Given the description of an element on the screen output the (x, y) to click on. 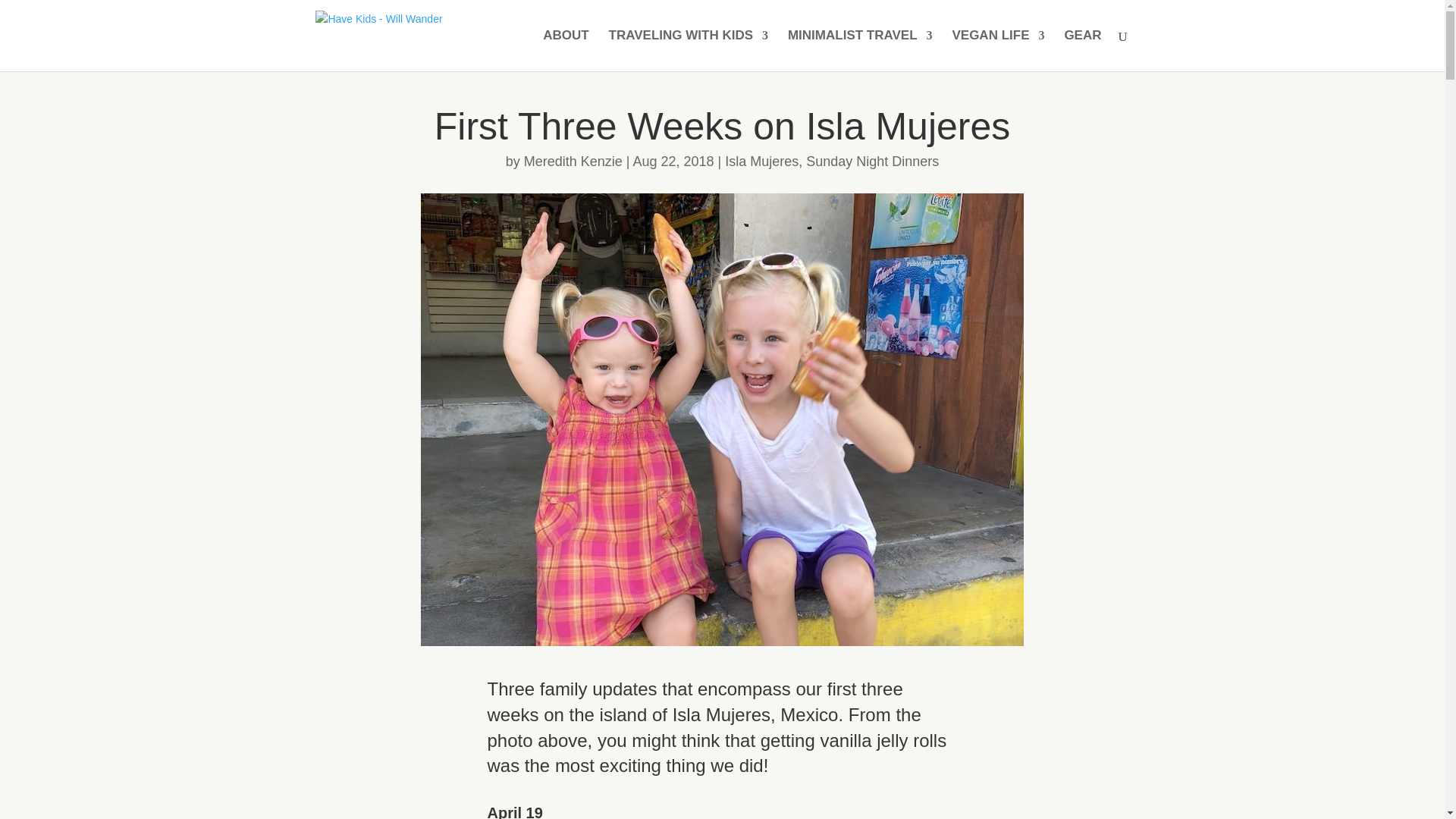
ABOUT (565, 50)
Isla Mujeres (761, 160)
MINIMALIST TRAVEL (860, 50)
GEAR (1082, 50)
VEGAN LIFE (997, 50)
Posts by Meredith Kenzie (573, 160)
Meredith Kenzie (573, 160)
TRAVELING WITH KIDS (688, 50)
Sunday Night Dinners (872, 160)
